Given the description of an element on the screen output the (x, y) to click on. 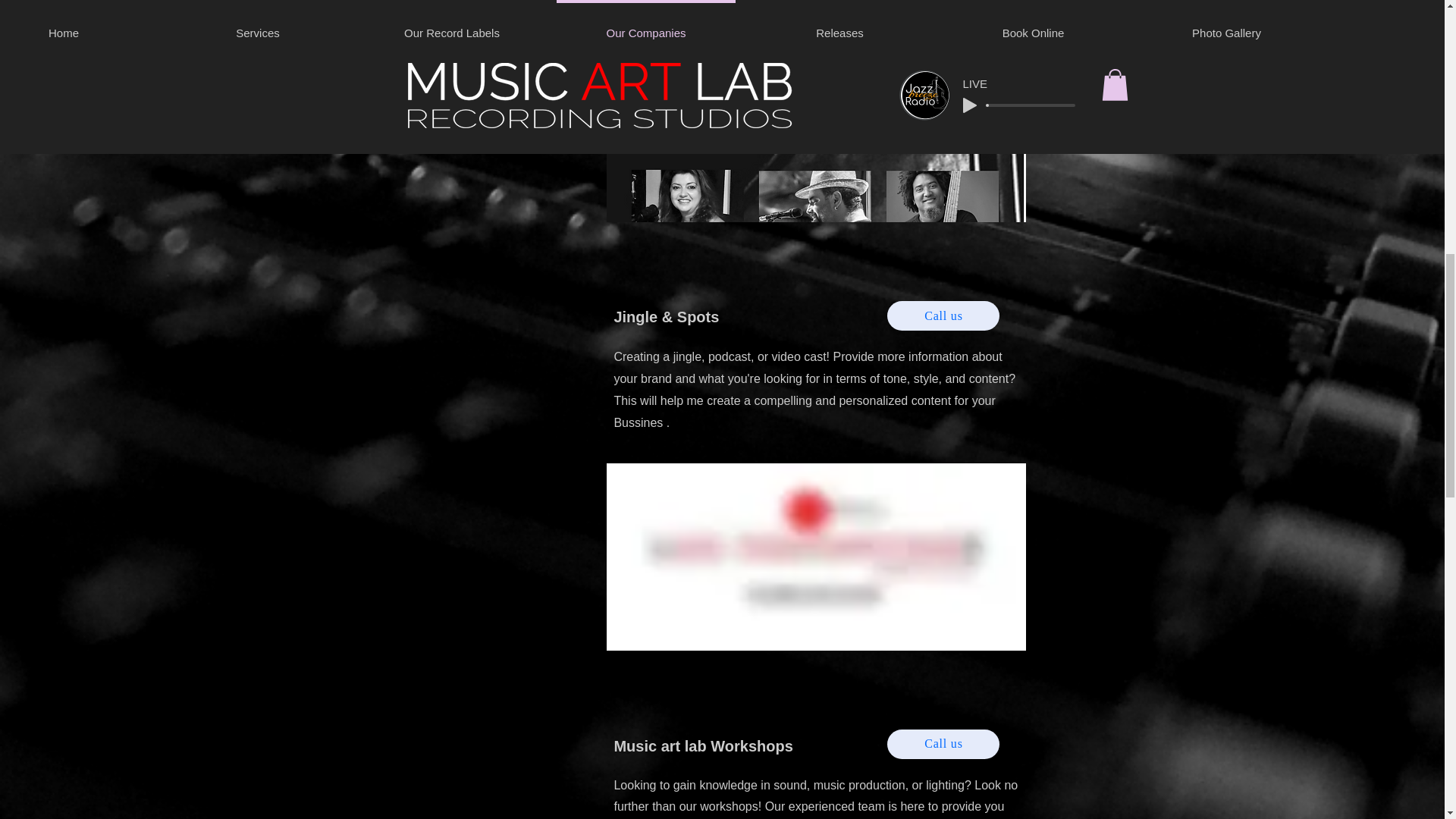
Call us (942, 744)
Call us (942, 315)
